Given the description of an element on the screen output the (x, y) to click on. 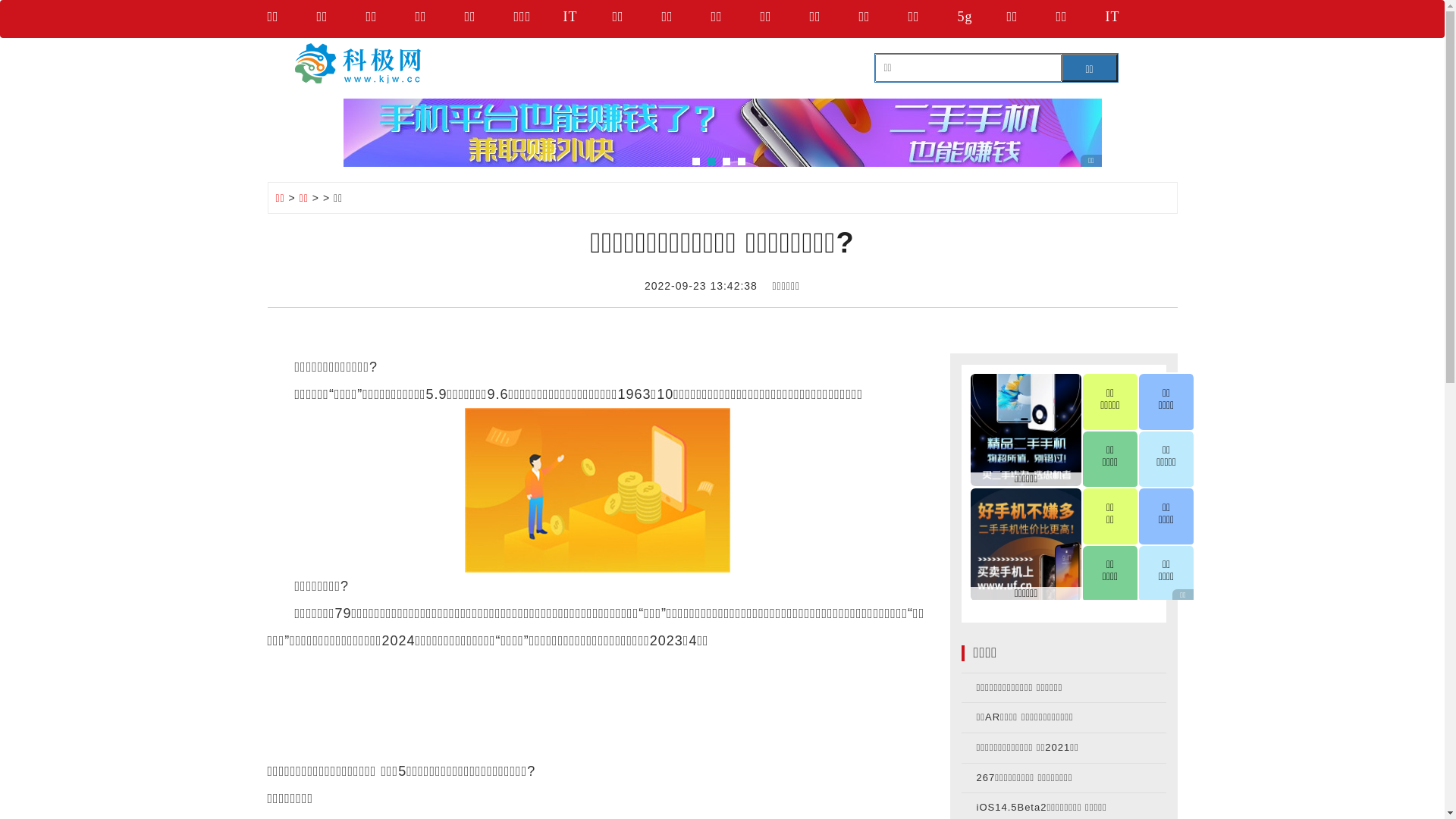
IT Element type: text (1129, 18)
5g Element type: text (981, 18)
IT Element type: text (586, 18)
